Given the description of an element on the screen output the (x, y) to click on. 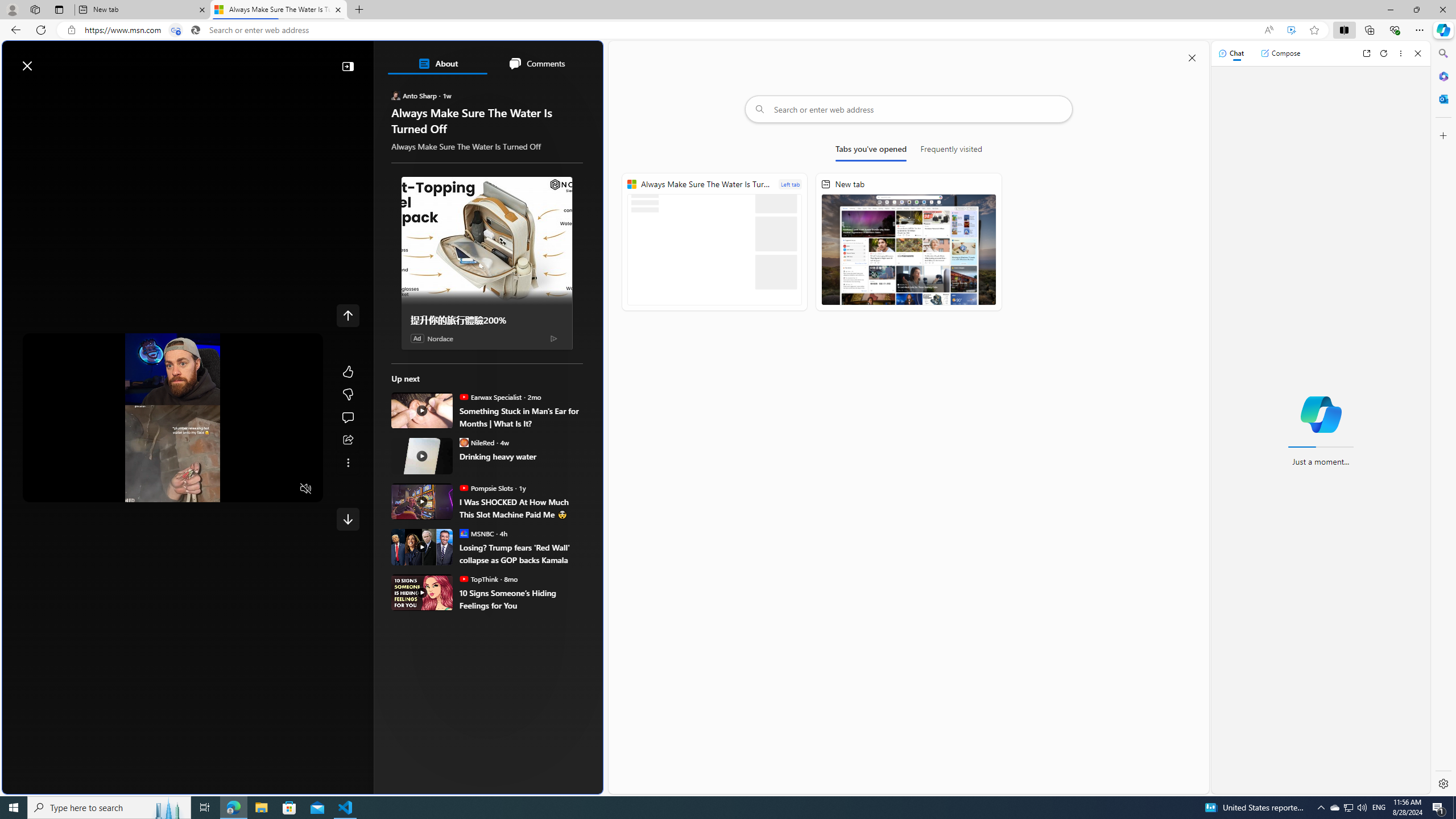
Open settings (577, 60)
Enter your search term (304, 59)
Class: button-glyph (44, 92)
